Given the description of an element on the screen output the (x, y) to click on. 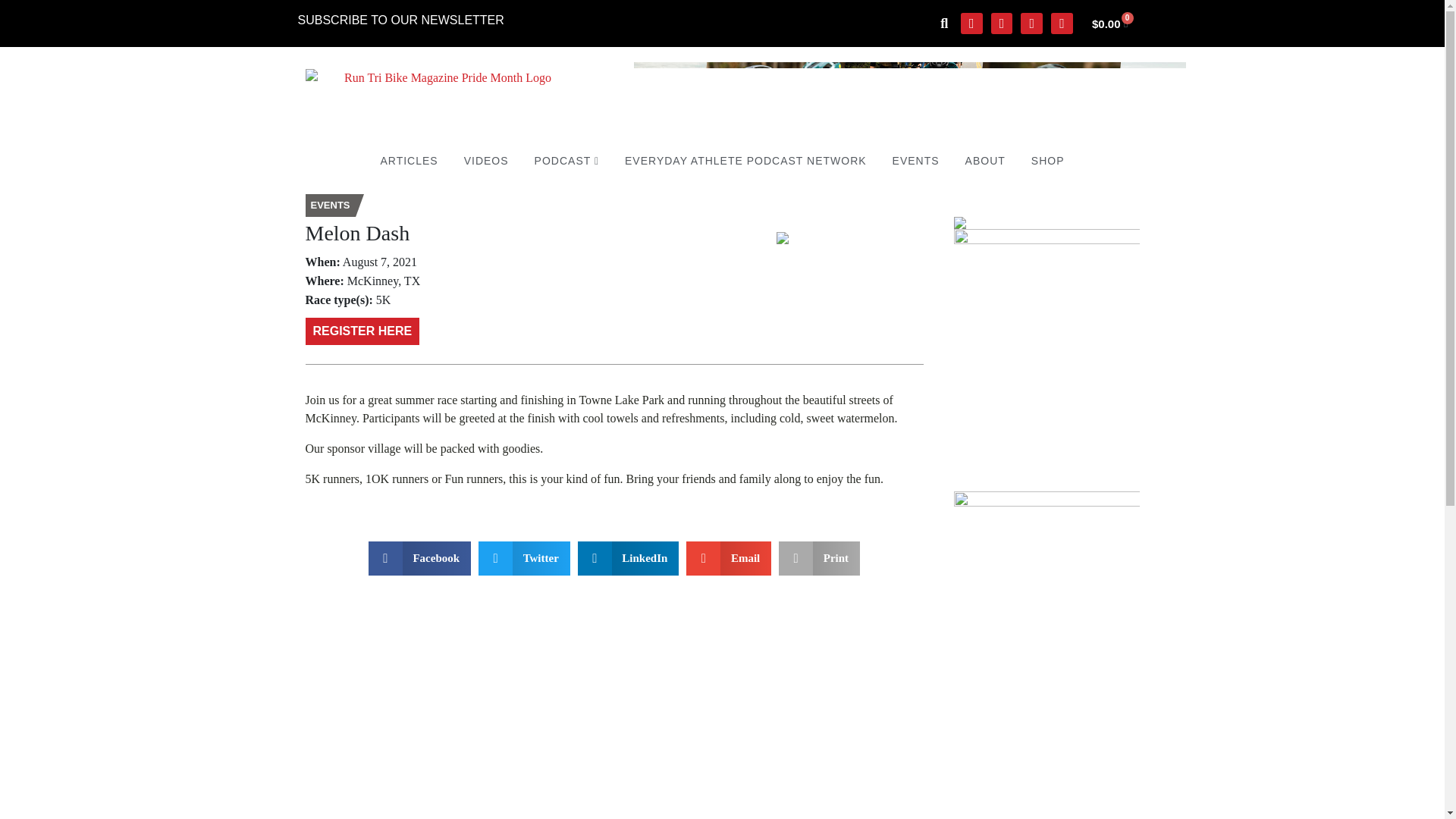
SUBSCRIBE TO OUR NEWSLETTER (400, 19)
VIDEOS (486, 160)
EVERYDAY ATHLETE PODCAST NETWORK (745, 160)
ARTICLES (407, 160)
